Given the description of an element on the screen output the (x, y) to click on. 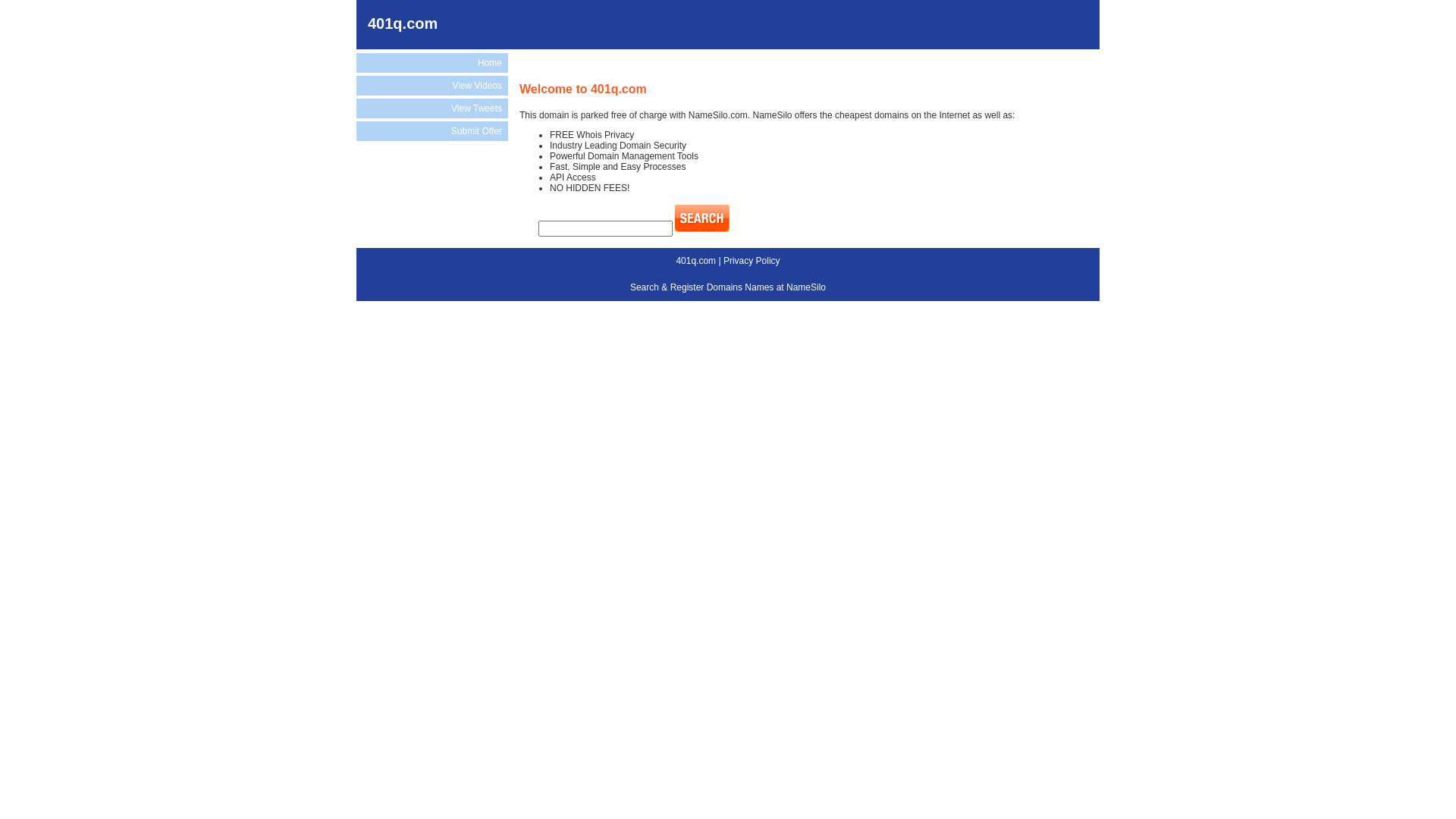
View Videos Element type: text (432, 85)
Submit Offer Element type: text (432, 131)
Search & Register Domains Names at NameSilo Element type: text (727, 287)
View Tweets Element type: text (432, 108)
Privacy Policy Element type: text (751, 260)
Home Element type: text (432, 62)
